Given the description of an element on the screen output the (x, y) to click on. 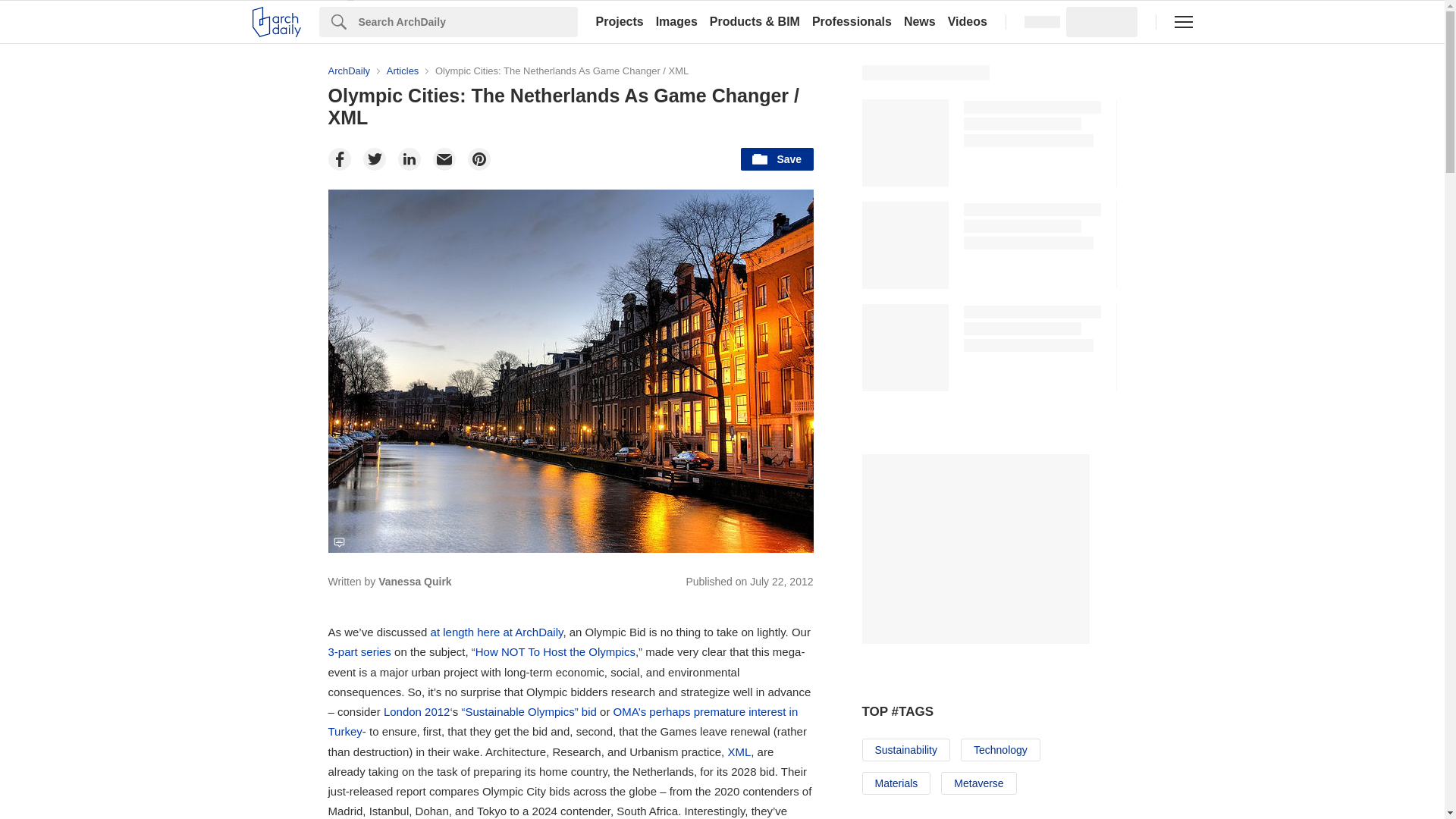
Projects (619, 21)
Images (676, 21)
News (920, 21)
Videos (967, 21)
Professionals (852, 21)
